Given the description of an element on the screen output the (x, y) to click on. 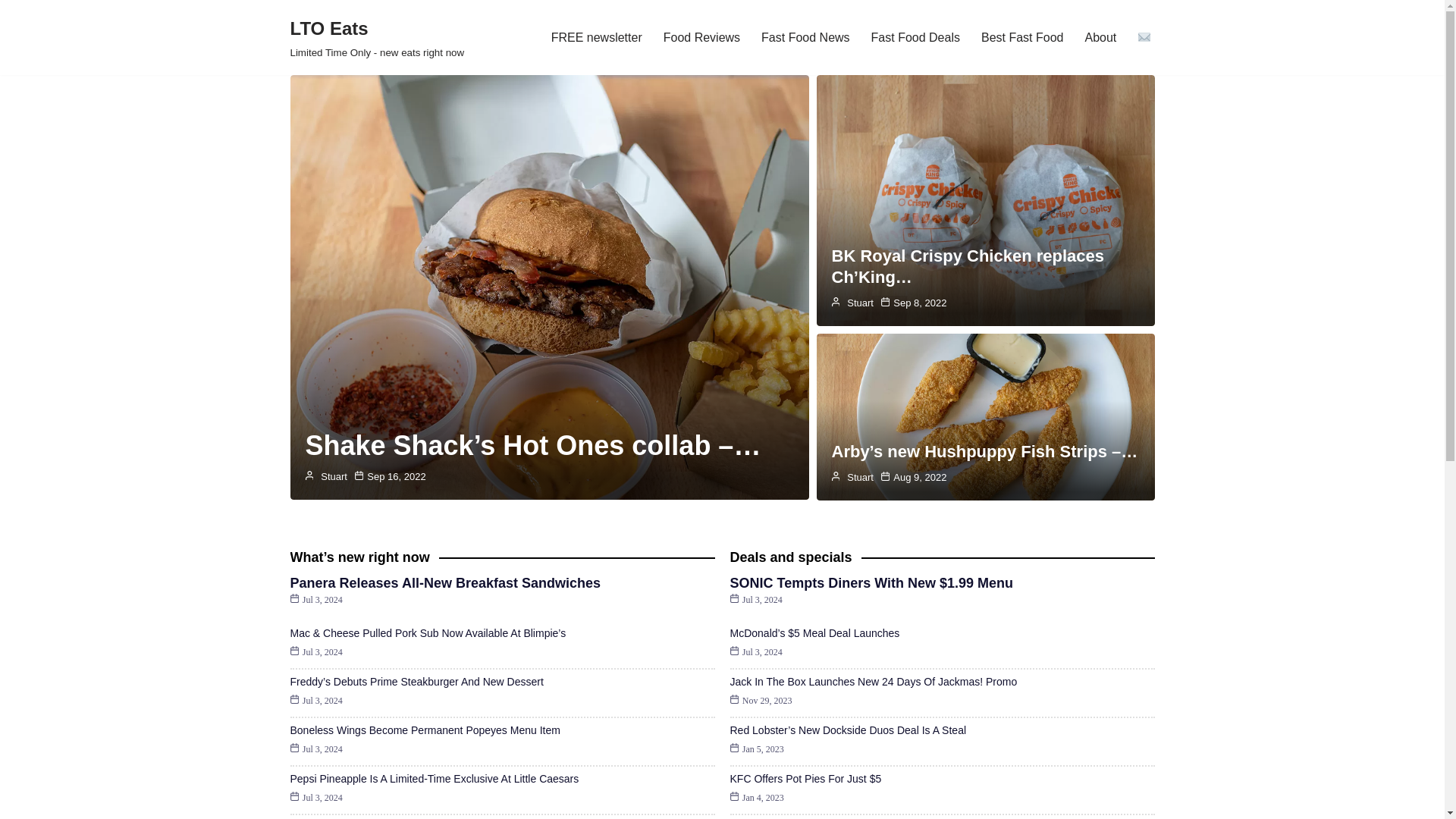
Food Reviews (701, 37)
Stuart (860, 303)
Panera Releases All-New Breakfast Sandwiches (444, 582)
Best Fast Food (1022, 37)
Fast Food Deals (914, 37)
Boneless Wings Become Permanent Popeyes Menu Item (424, 729)
Stuart (376, 37)
FREE newsletter (860, 477)
Skip to content (596, 37)
Fast Food News (11, 31)
Jack In The Box Launches New 24 Days Of Jackmas! Promo (804, 37)
About (872, 681)
Stuart (1100, 37)
